Given the description of an element on the screen output the (x, y) to click on. 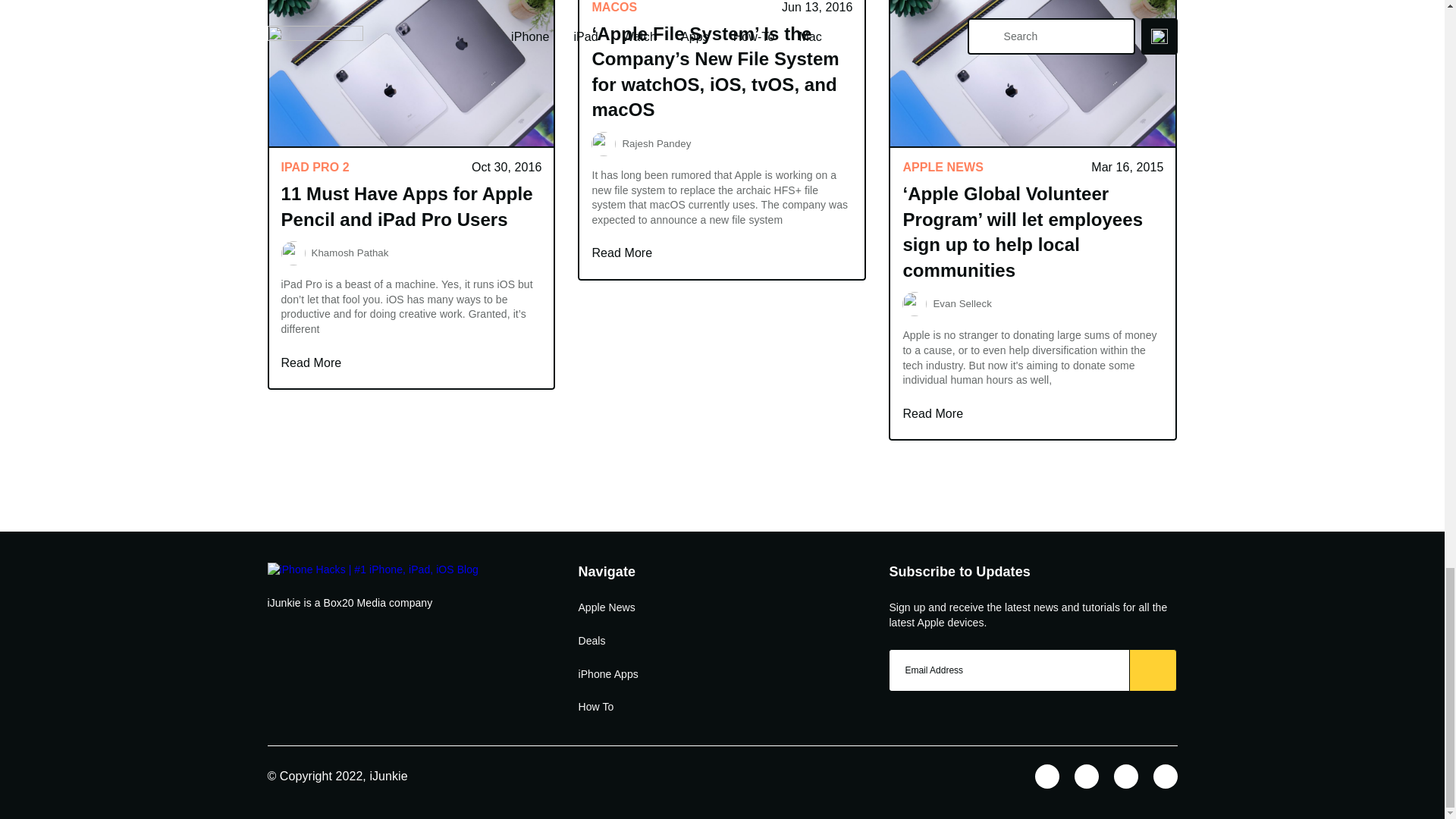
Apple News (606, 607)
iPhone Apps (607, 674)
Deals (591, 641)
How To (595, 707)
